Given the description of an element on the screen output the (x, y) to click on. 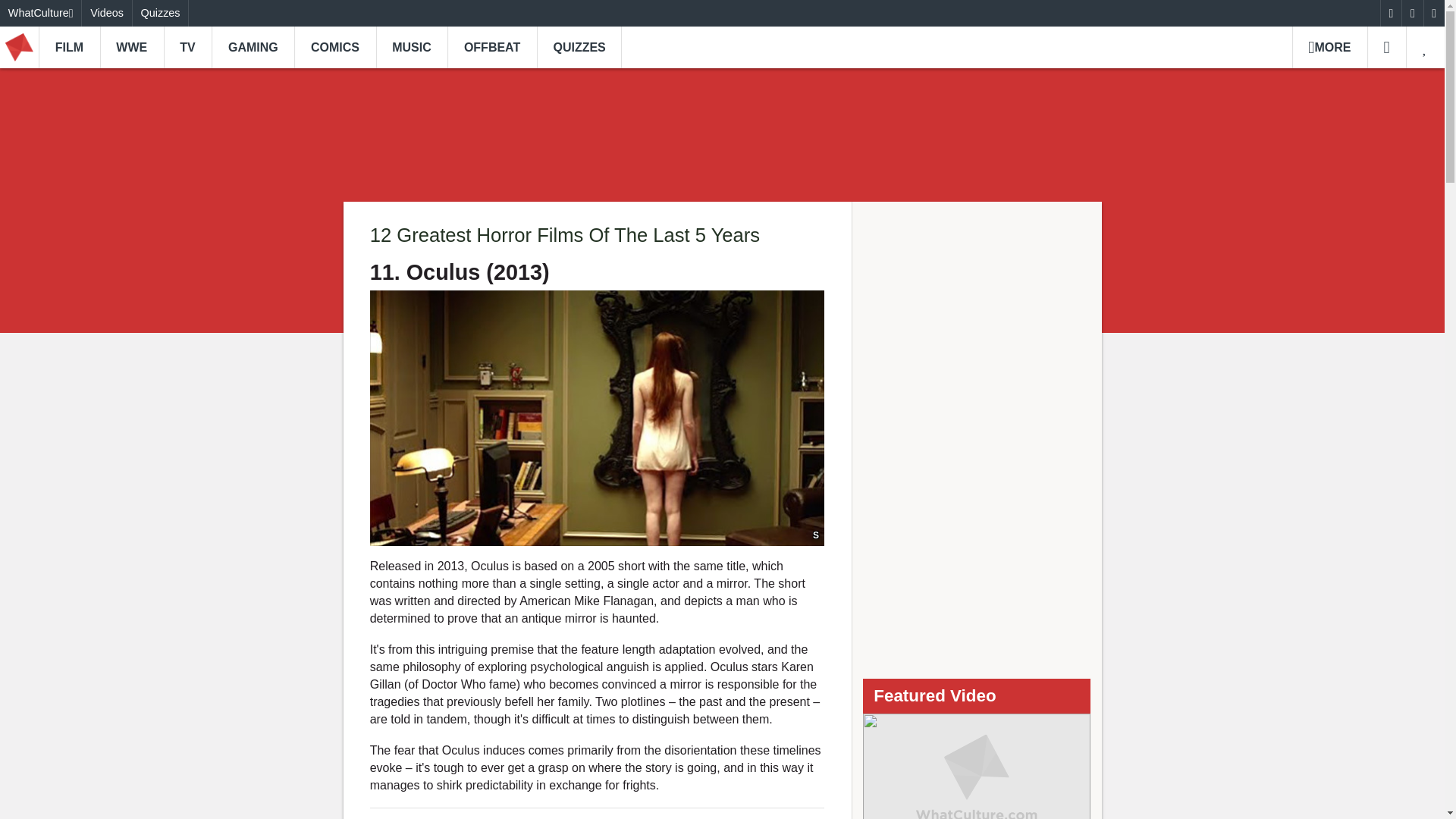
SEARCH (1386, 46)
Search (1386, 46)
FILM (69, 46)
QUIZZES (580, 46)
OFFBEAT (491, 46)
TV (187, 46)
COMICS (334, 46)
MORE (1329, 46)
Videos (106, 13)
GAMING (252, 46)
